Given the description of an element on the screen output the (x, y) to click on. 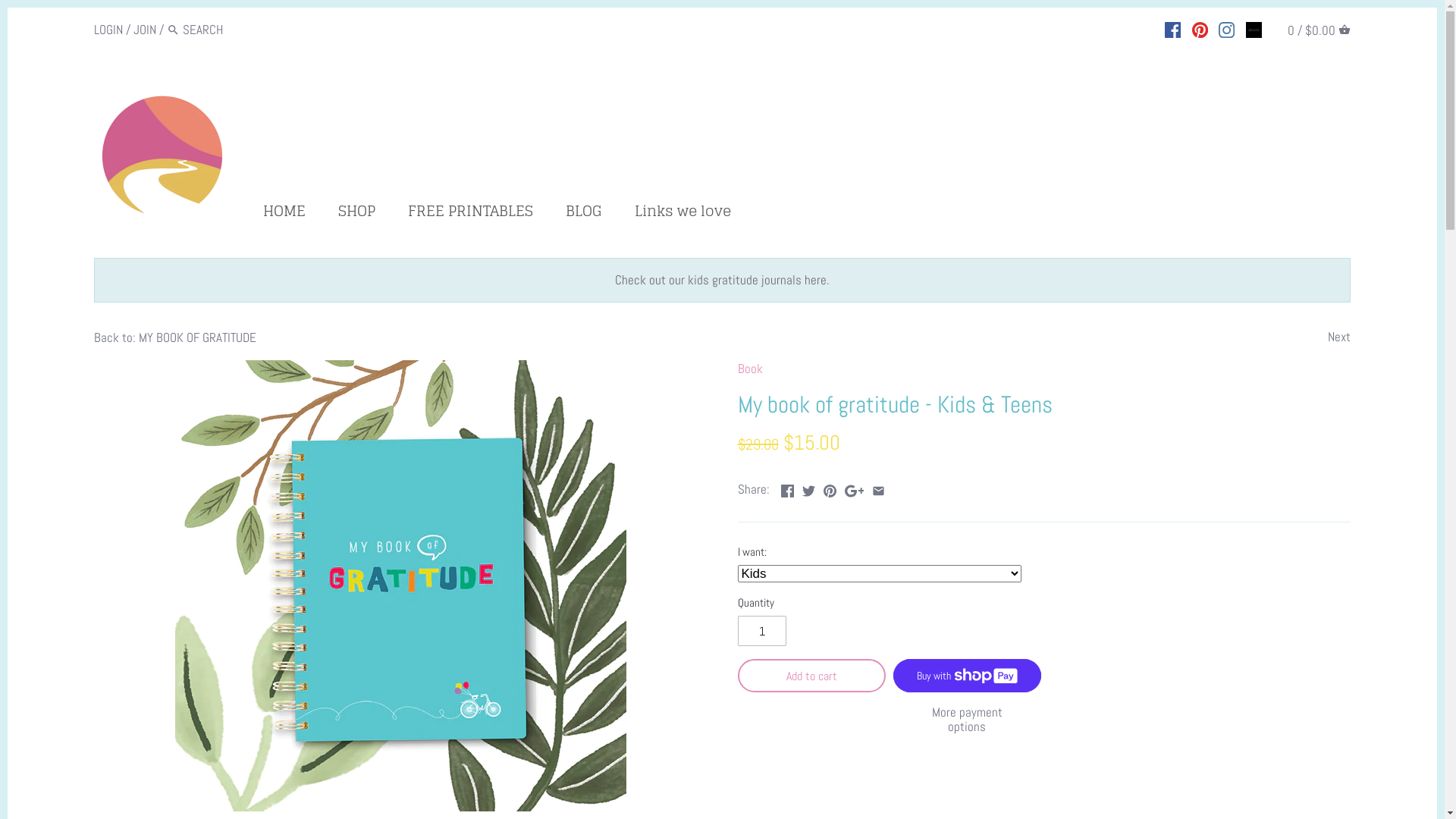
Back to: MY BOOK OF GRATITUDE Element type: text (175, 336)
INSTAGRAM Element type: text (1226, 27)
FACEBOOK Element type: text (1172, 27)
Book Element type: text (749, 368)
BLOG Element type: text (583, 213)
FREE PRINTABLES Element type: text (470, 213)
JOIN Element type: text (144, 29)
Email Element type: text (878, 487)
LOGIN Element type: text (108, 29)
GooglePlus Element type: text (854, 487)
SHOP Element type: text (356, 213)
More payment options Element type: text (967, 719)
0 / $0.00 CART Element type: text (1318, 28)
Pinterest Element type: text (829, 487)
Add to cart Element type: text (810, 675)
Check out our kids gratitude journals here. Element type: text (722, 279)
Links we love Element type: text (682, 213)
Twitter Element type: text (808, 487)
Search Element type: text (172, 29)
HOME Element type: text (291, 213)
Next Element type: text (1338, 336)
PINTEREST Element type: text (1200, 27)
Facebook Element type: text (787, 487)
